Given the description of an element on the screen output the (x, y) to click on. 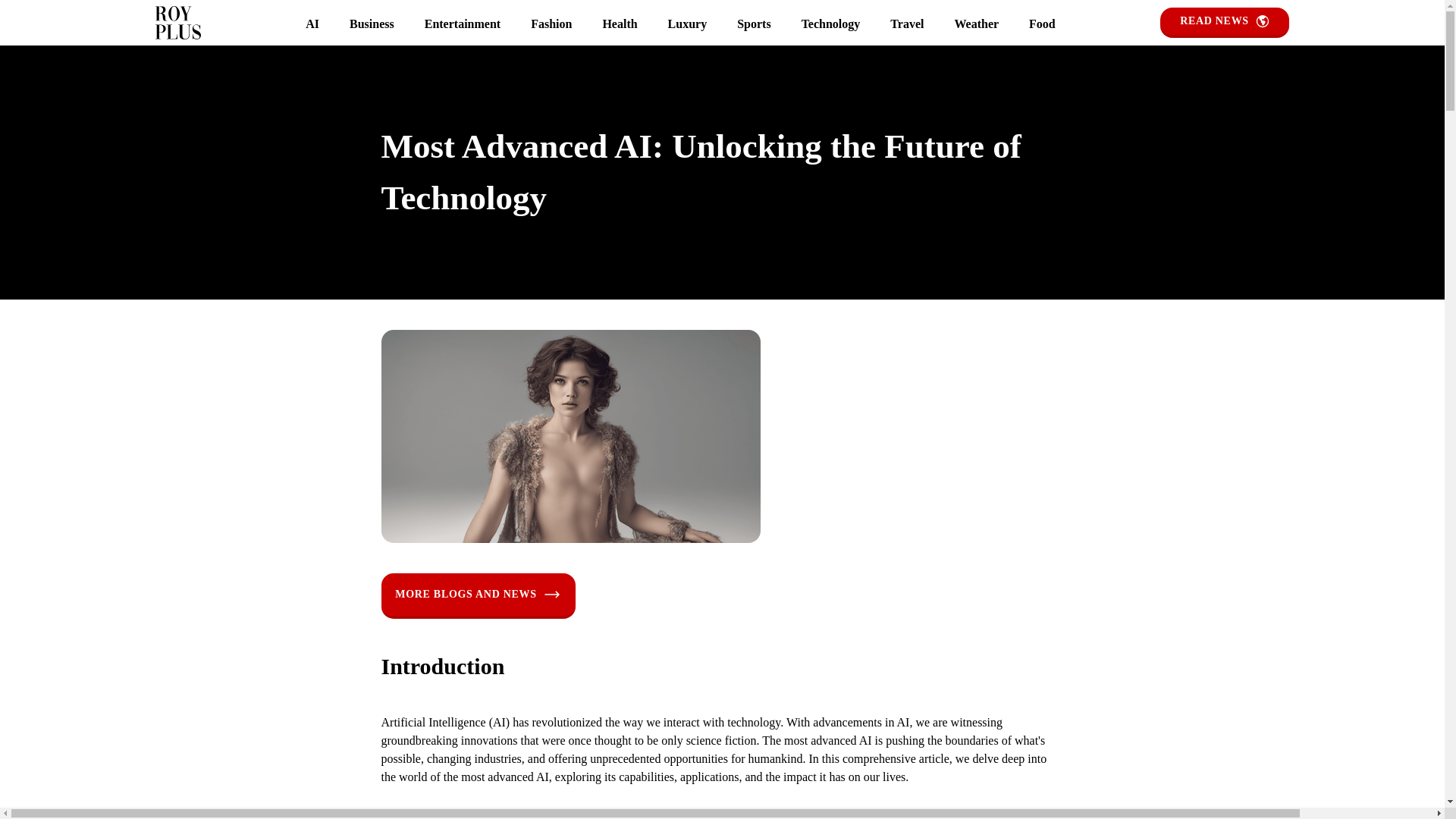
Business (371, 23)
Technology (830, 23)
Travel (906, 23)
Fashion (550, 23)
Most Advanced AI: Unlocking the Future of Technology (570, 436)
AI (312, 23)
Weather (976, 23)
MORE BLOGS AND NEWS (477, 596)
More Blogs And News (477, 596)
Sports (754, 23)
Sports (754, 23)
Technology (830, 23)
Health (619, 23)
Fashion (550, 23)
Entertainment (462, 23)
